Given the description of an element on the screen output the (x, y) to click on. 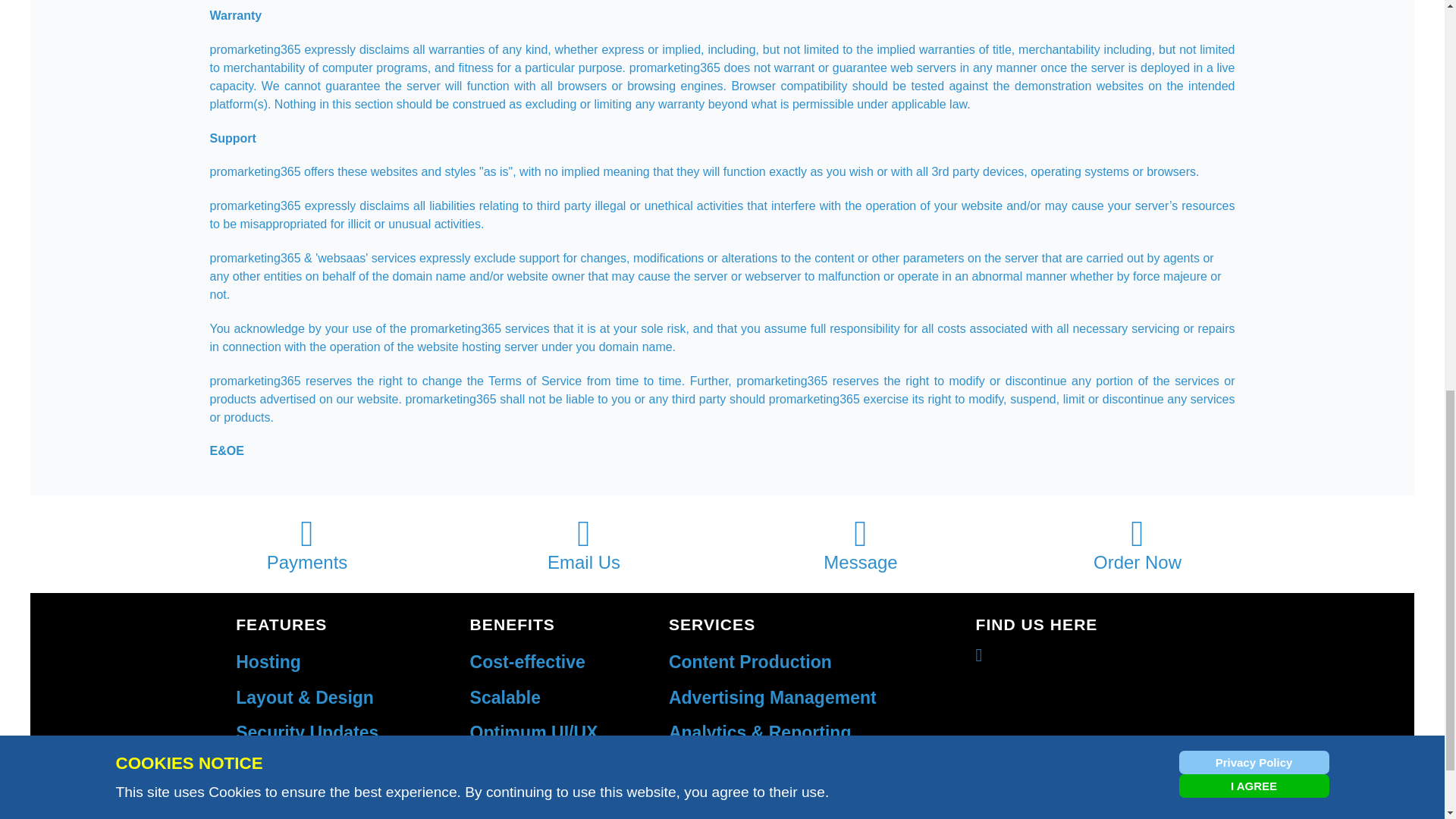
Security Updates (306, 732)
Advertising Management (772, 696)
Scalable (505, 696)
Order Now (1137, 543)
Content Production (749, 661)
Message (860, 543)
Payments (306, 543)
Cost-effective (527, 661)
Scalable (505, 696)
Hosting (268, 661)
